Given the description of an element on the screen output the (x, y) to click on. 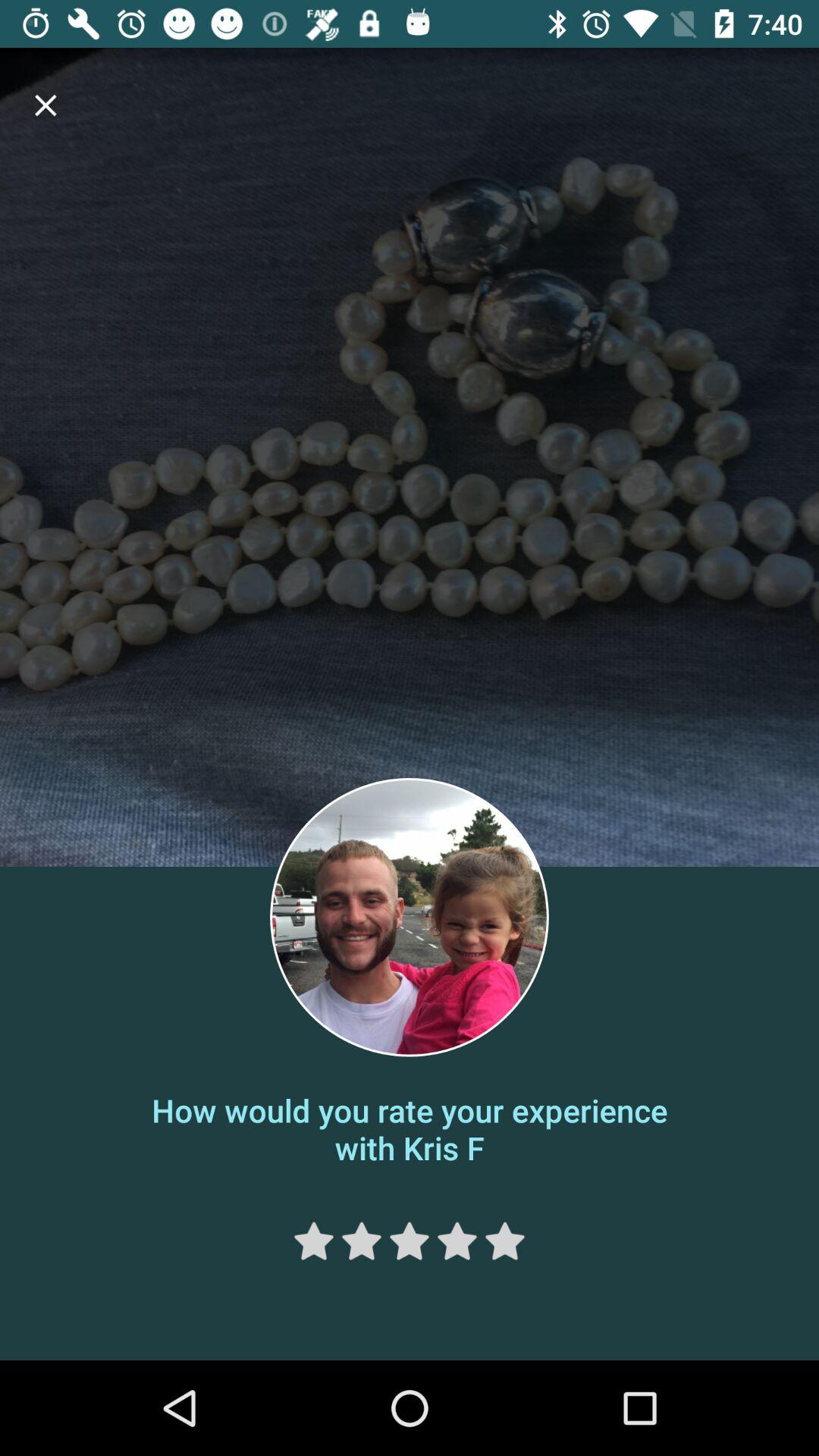
rate 3 stars (409, 1240)
